Given the description of an element on the screen output the (x, y) to click on. 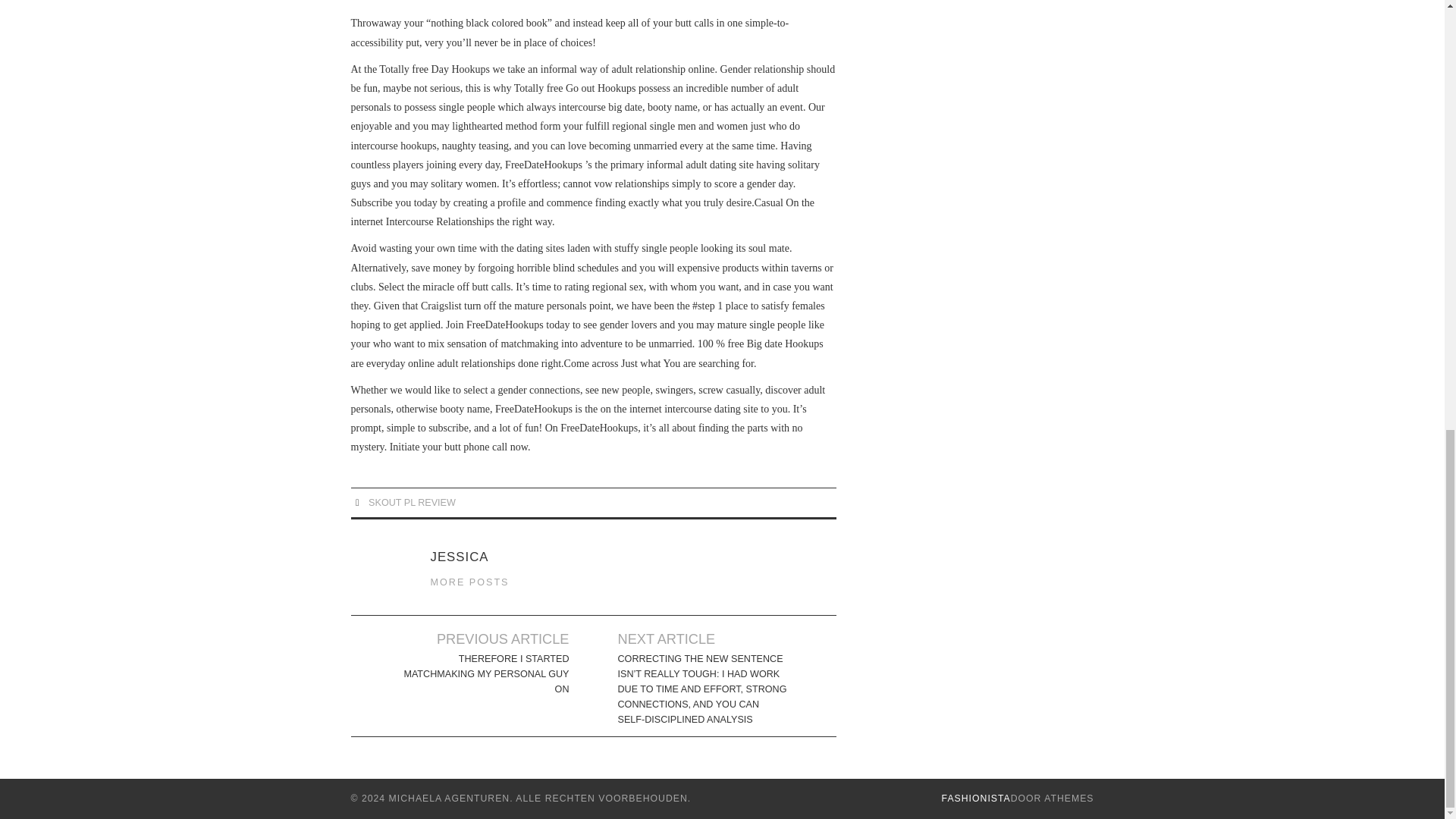
FASHIONISTA (976, 798)
MORE POSTS (469, 582)
SKOUT PL REVIEW (411, 502)
THEREFORE I STARTED MATCHMAKING MY PERSONAL GUY ON (483, 673)
